Given the description of an element on the screen output the (x, y) to click on. 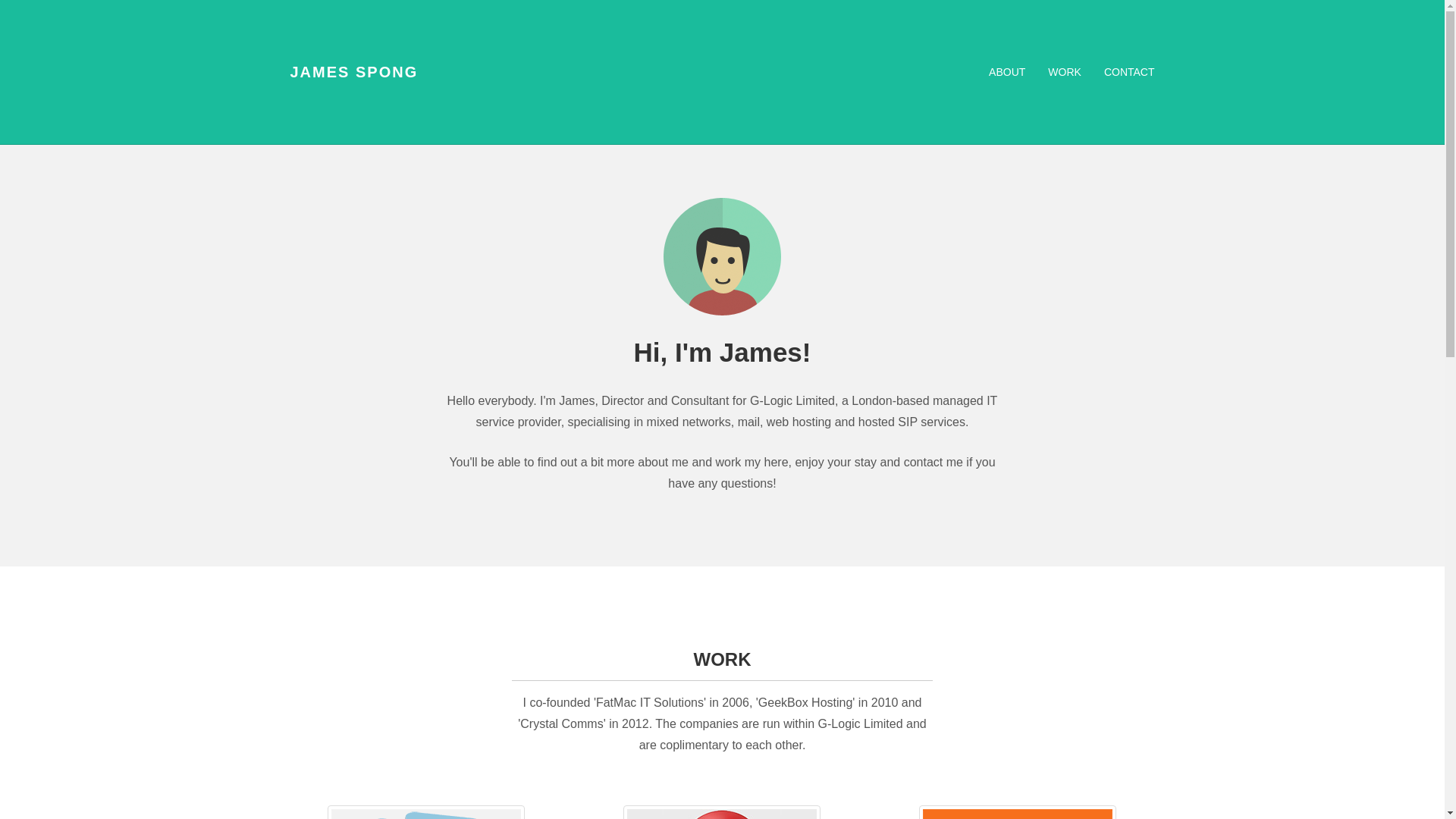
ABOUT (1006, 71)
CONTACT (1129, 71)
JAMES SPONG (354, 71)
WORK (1064, 71)
